Given the description of an element on the screen output the (x, y) to click on. 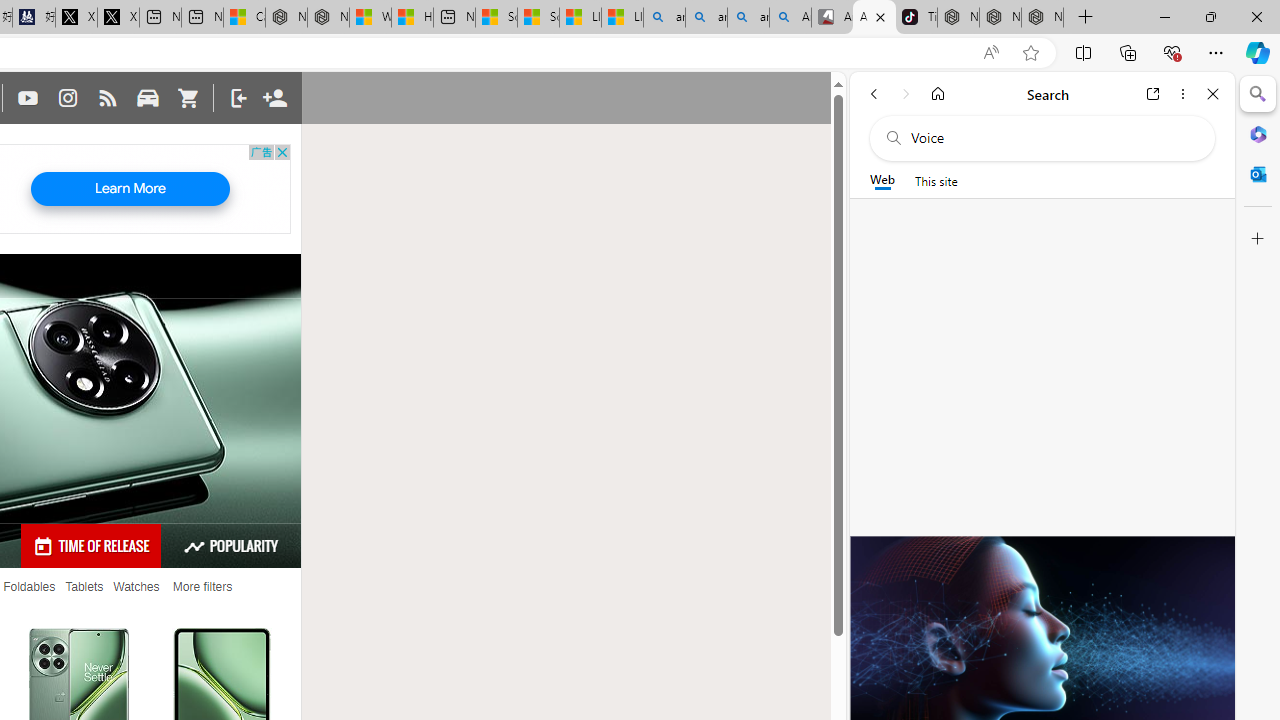
More filters (202, 587)
Tablets (84, 587)
TikTok (916, 17)
All OnePlus phones (873, 17)
Search the web (1051, 137)
Nordace Siena Pro 15 Backpack (1000, 17)
Open link in new tab (1153, 93)
